Given the description of an element on the screen output the (x, y) to click on. 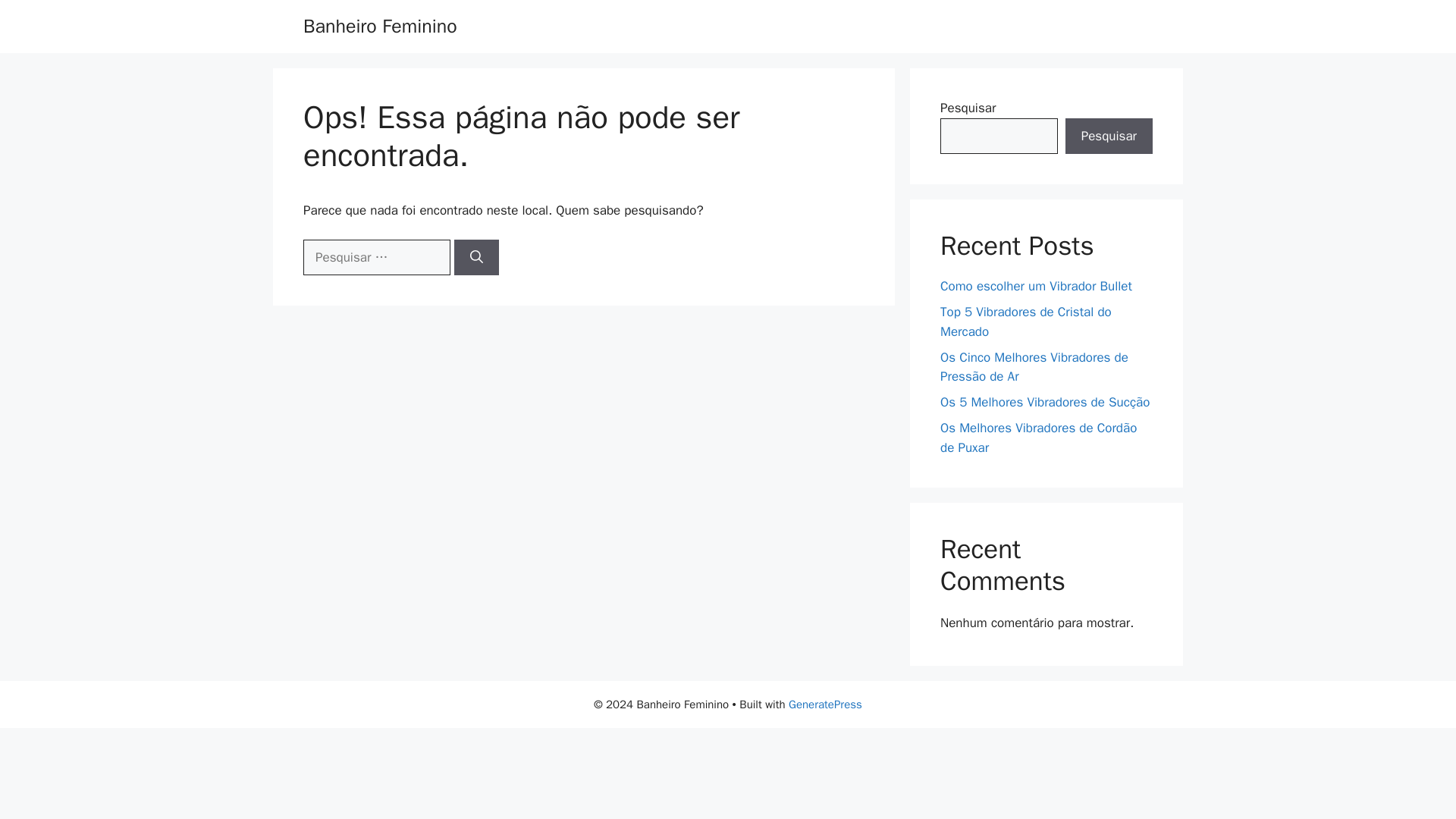
Como escolher um Vibrador Bullet (1036, 286)
Pesquisar (1109, 135)
Banheiro Feminino (379, 25)
Top 5 Vibradores de Cristal do Mercado (1026, 321)
Pesquisar por: (375, 257)
GeneratePress (825, 704)
